Given the description of an element on the screen output the (x, y) to click on. 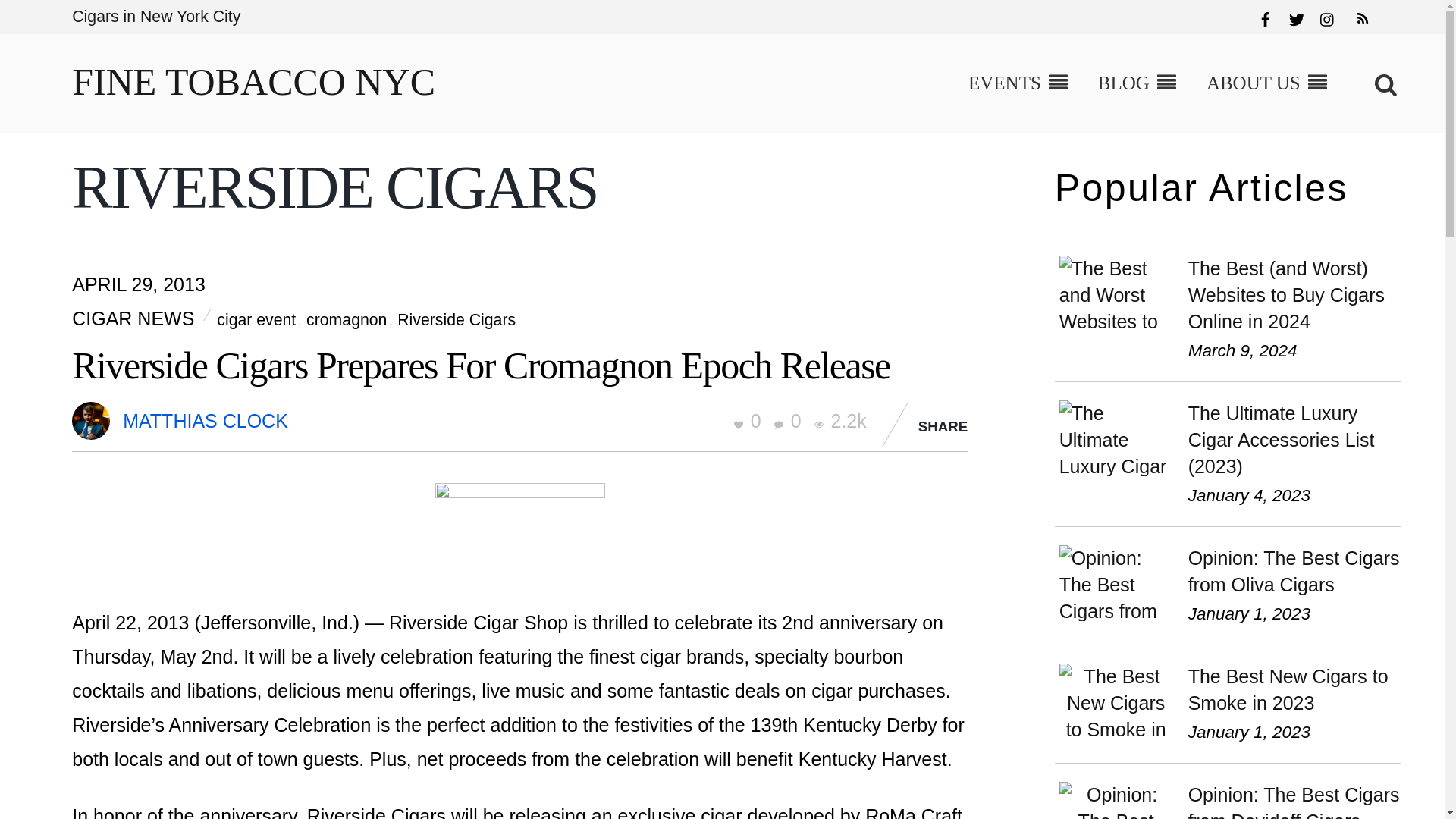
Fine Tobacco NYC (253, 81)
The Best New Cigars to Smoke in 2023 (1116, 701)
cromagnon (346, 320)
Riverside Cigars Prepares For Cromagnon Epoch Release (480, 364)
Like it! (750, 420)
0 (788, 420)
BLOG (1136, 83)
MATTHIAS CLOCK (205, 420)
ABOUT US (1266, 83)
SHARE (943, 426)
